Given the description of an element on the screen output the (x, y) to click on. 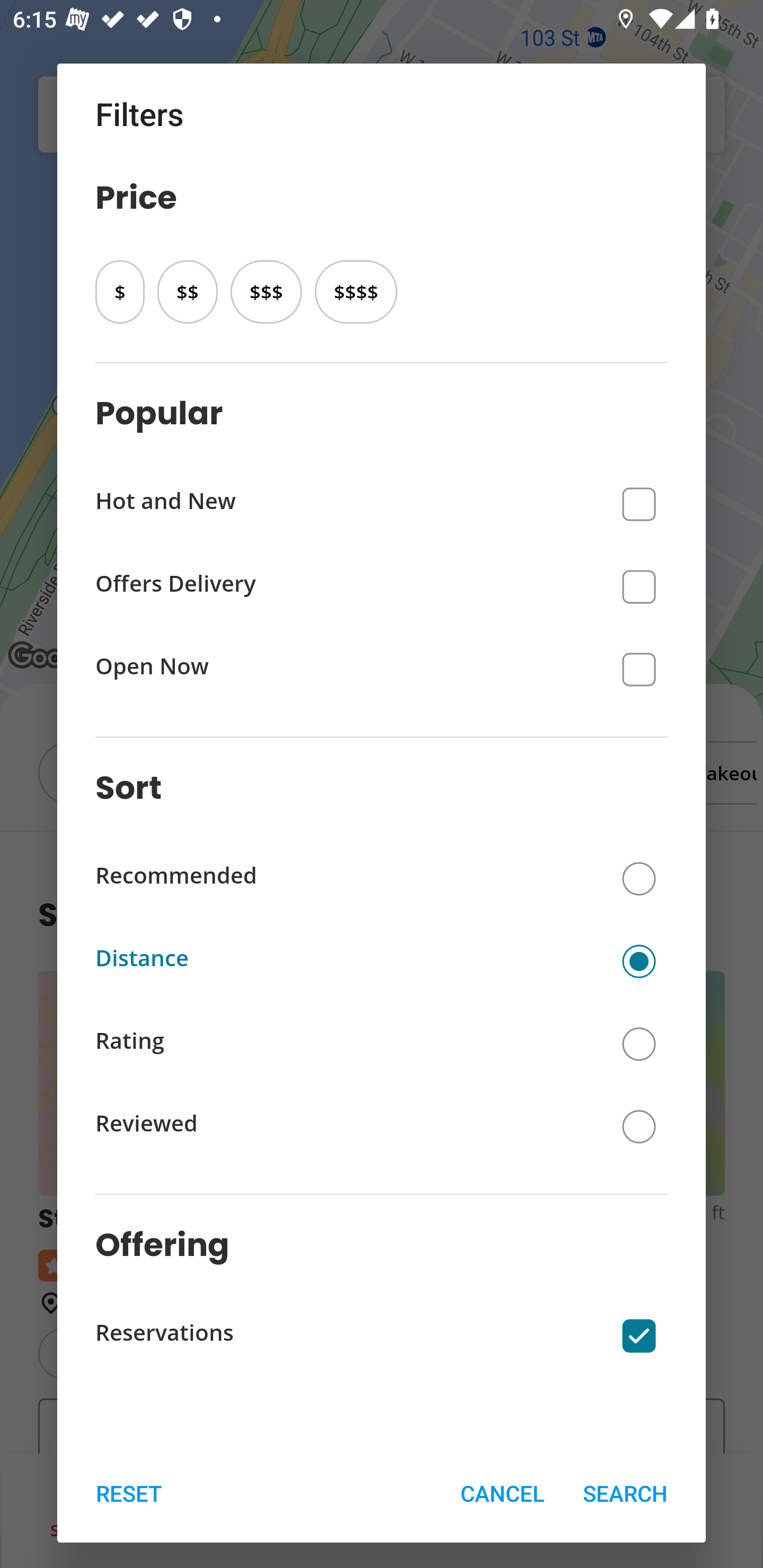
SEARCH (624, 1493)
